Given the description of an element on the screen output the (x, y) to click on. 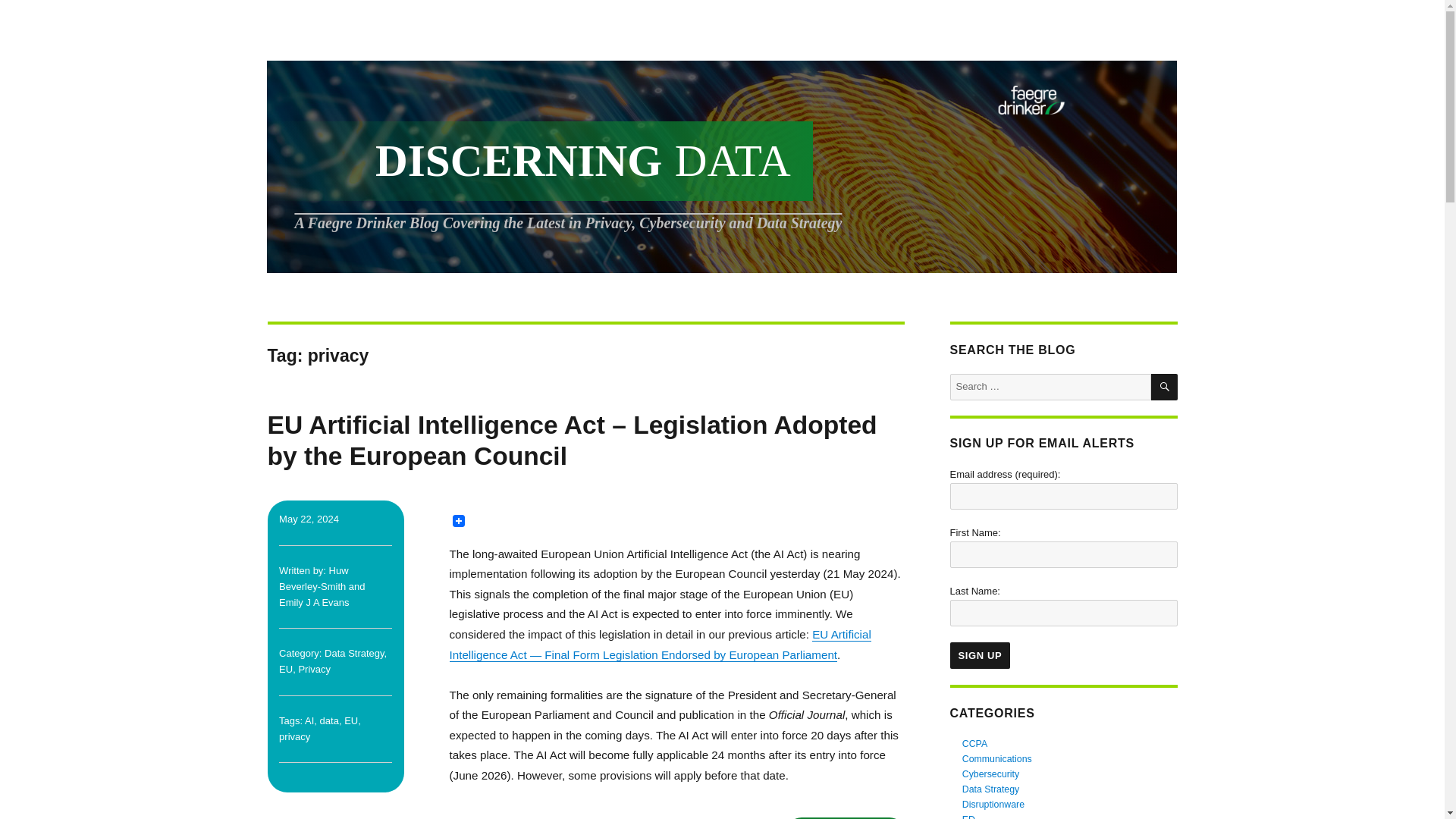
Privacy (314, 668)
Posts by Emily J A Evans (314, 602)
data (329, 720)
Emily J A Evans (314, 602)
EU (285, 668)
Sign up (979, 655)
Data Strategy (354, 653)
Posts by Huw Beverley-Smith (314, 578)
EU (350, 720)
